Given the description of an element on the screen output the (x, y) to click on. 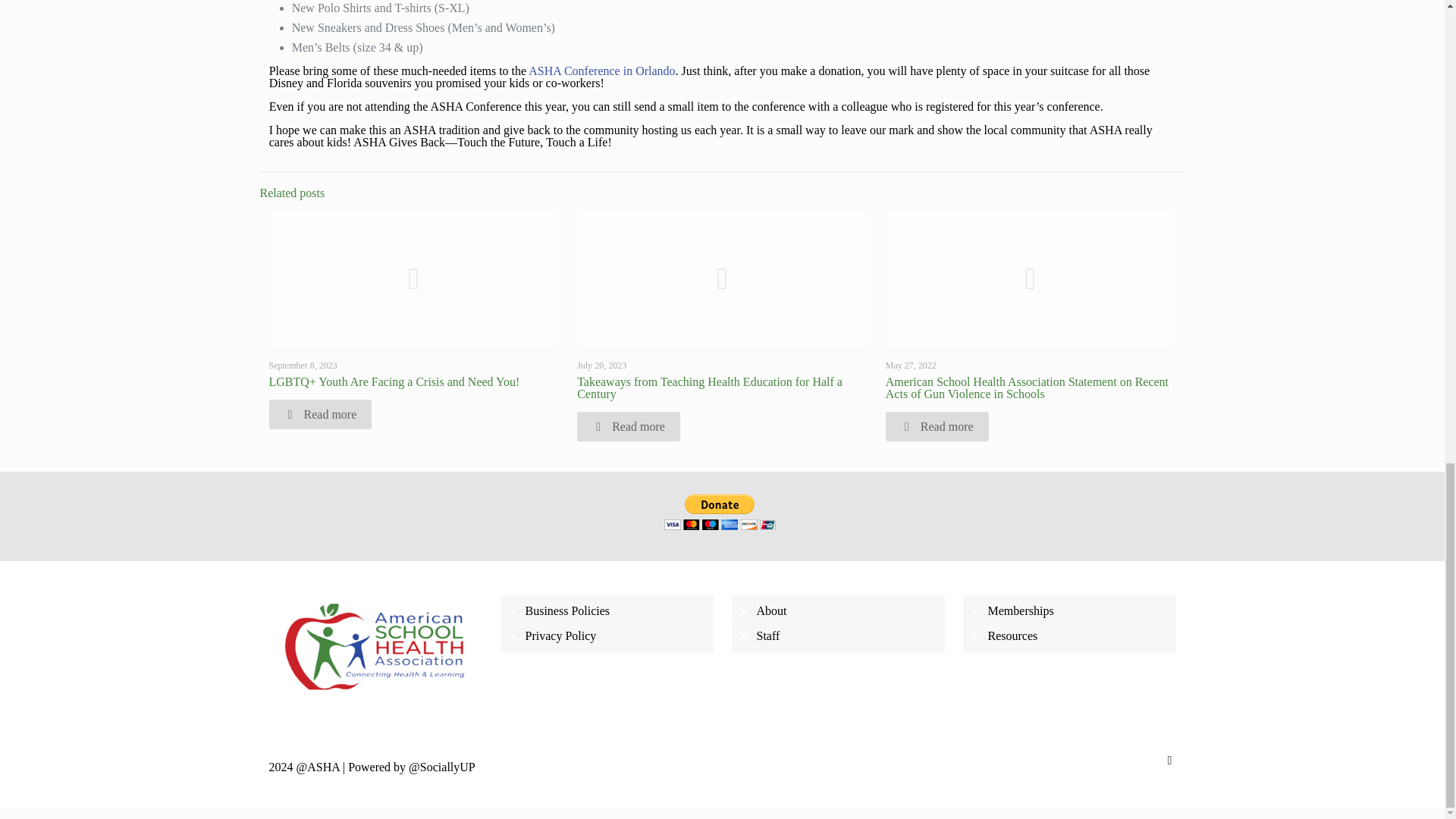
PayPal - The safer, easier way to pay online! (719, 511)
YouTube (1126, 767)
Facebook (1094, 767)
LinkedIn (1142, 767)
